Given the description of an element on the screen output the (x, y) to click on. 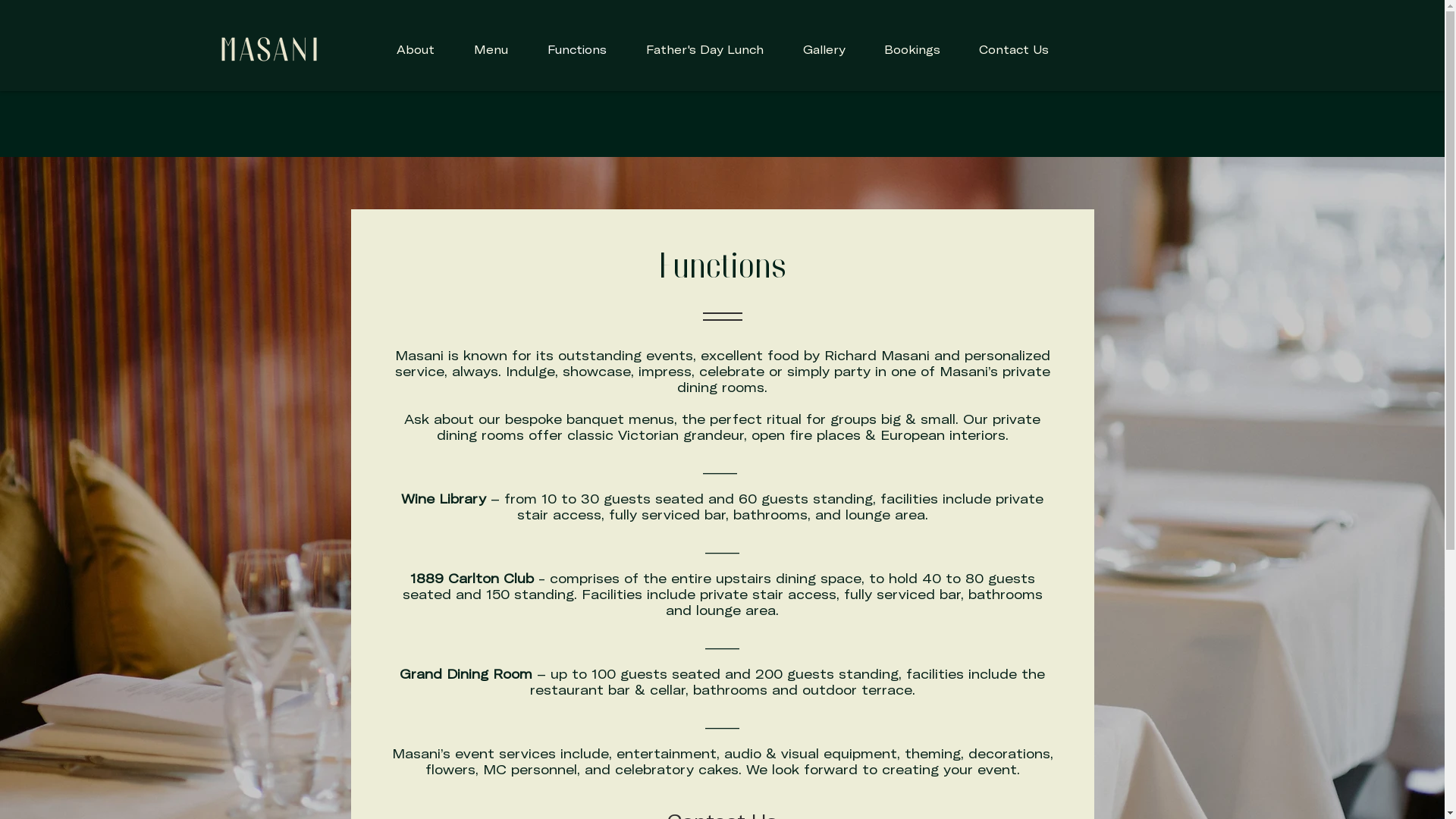
About Element type: text (414, 49)
Father's Day Lunch Element type: text (704, 49)
Bookings Element type: text (911, 49)
Gallery Element type: text (823, 49)
Contact Us Element type: text (1014, 49)
Menu Element type: text (490, 49)
Functions Element type: text (576, 49)
